Given the description of an element on the screen output the (x, y) to click on. 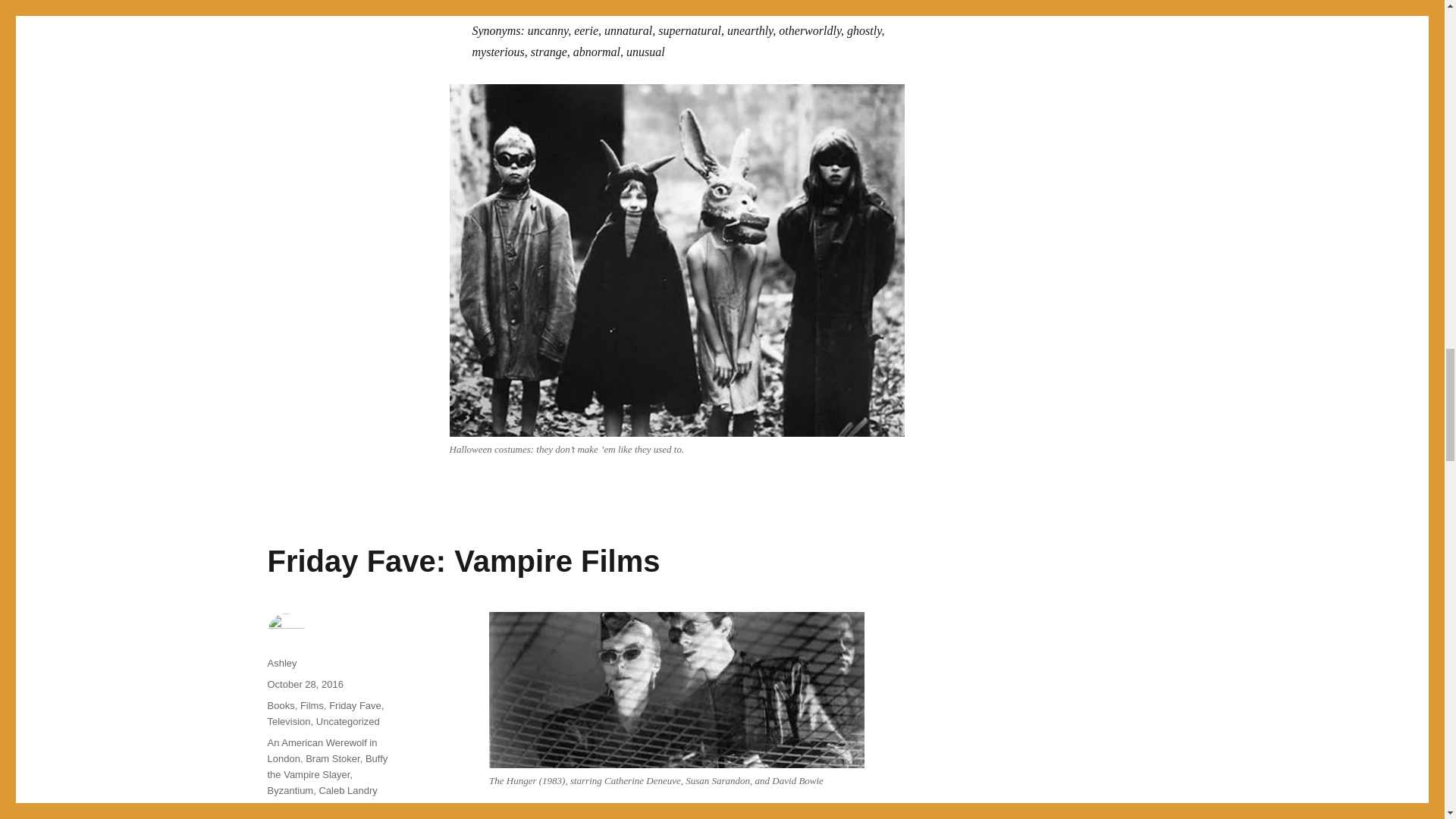
Caleb Landry Jones (321, 798)
Films (311, 705)
October 28, 2016 (304, 684)
David Bowie (293, 817)
Catherine Deneuve (341, 806)
Buffy the Vampire Slayer (326, 766)
Dracula (344, 817)
Film (375, 817)
An American Werewolf in London (321, 750)
Ashley (281, 663)
